Given the description of an element on the screen output the (x, y) to click on. 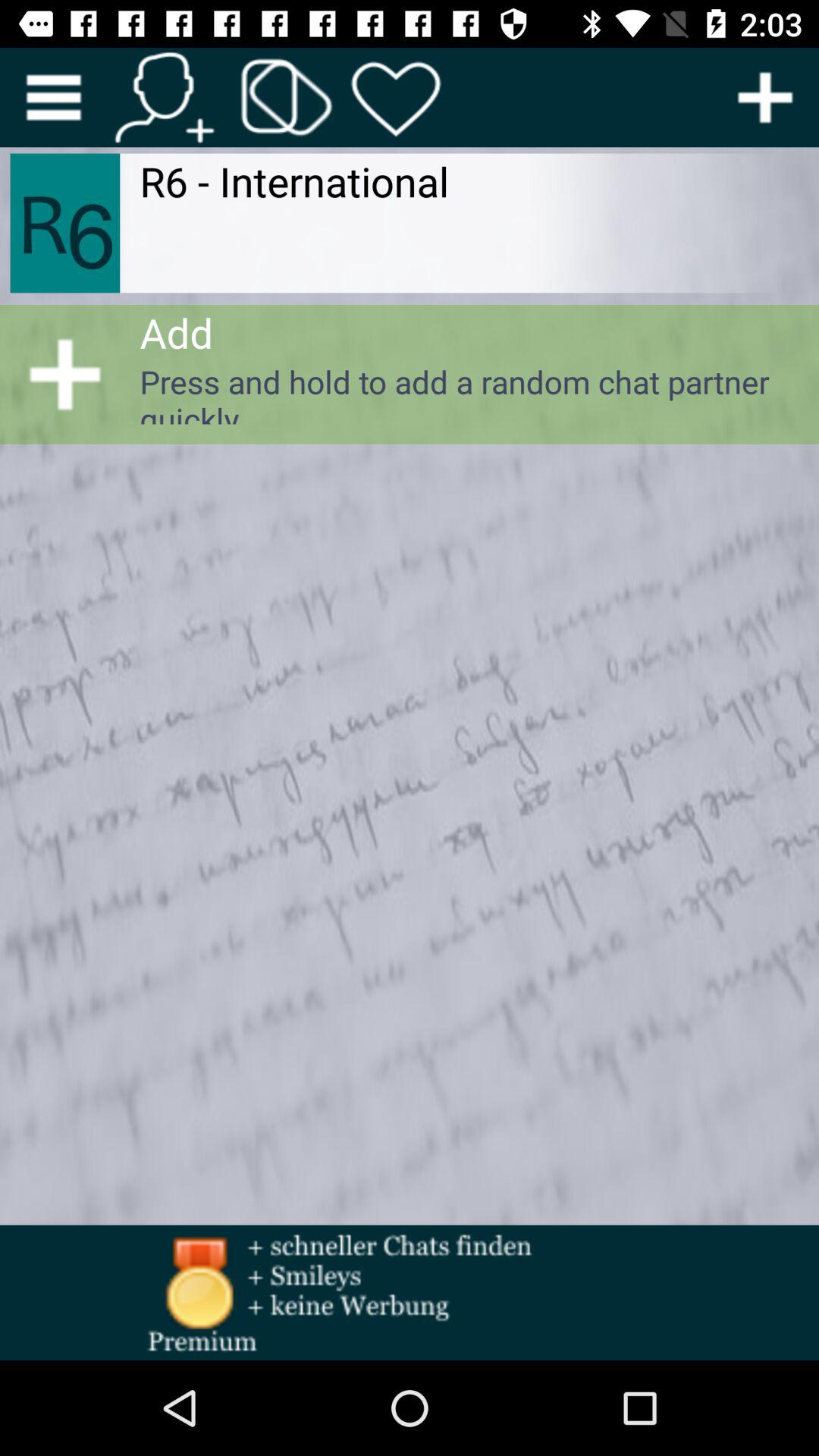
moire (765, 97)
